Given the description of an element on the screen output the (x, y) to click on. 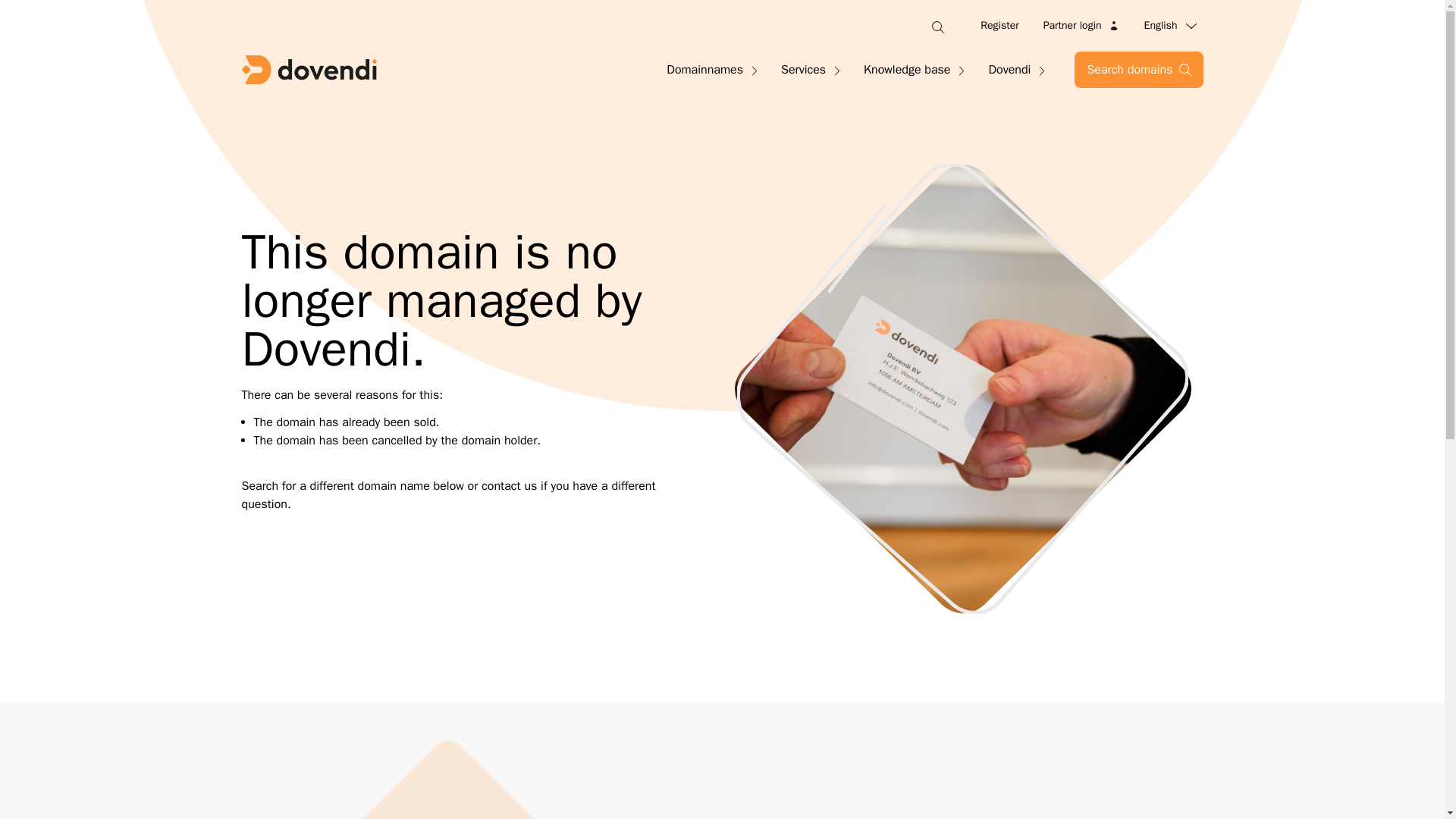
Domainnames (711, 69)
Knowledge base (913, 69)
Services (810, 69)
Partner login (1081, 25)
Register (998, 25)
